Given the description of an element on the screen output the (x, y) to click on. 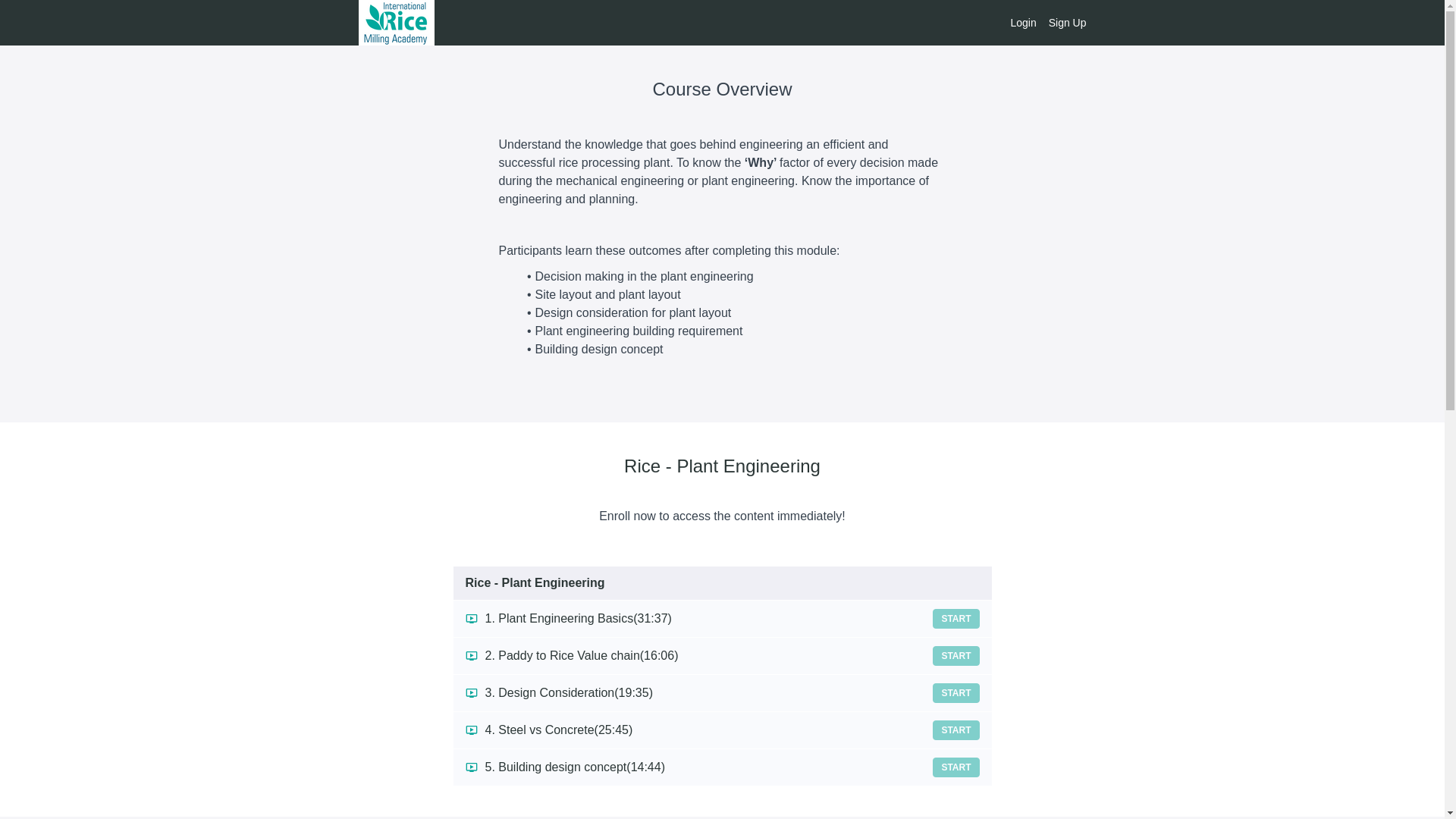
Login (1022, 22)
START (955, 618)
START (955, 655)
START (955, 692)
START (955, 767)
Sign Up (1067, 22)
START (955, 730)
